Given the description of an element on the screen output the (x, y) to click on. 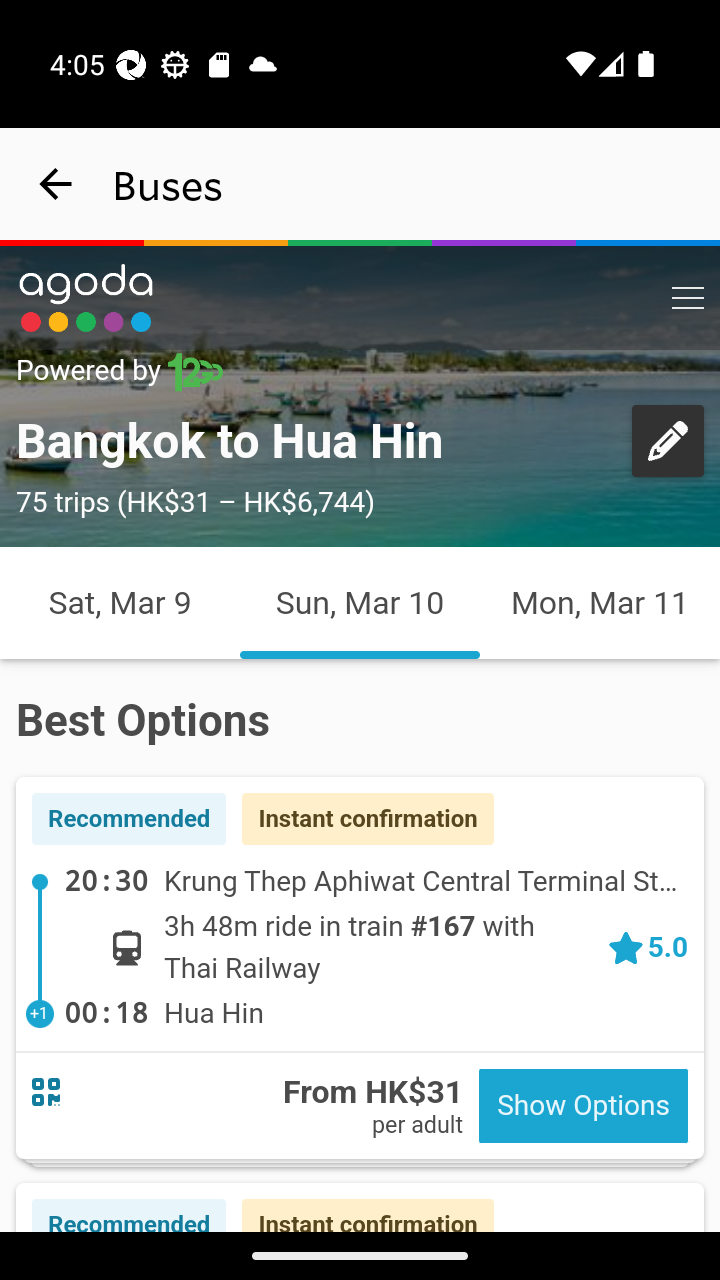
navigation_button (56, 184)
Link to main page 5418 (86, 298)
Sat, Mar 9 (119, 603)
Sun, Mar 10 (359, 603)
Mon, Mar 11 (600, 603)
5.0 (647, 946)
Show Options (583, 1105)
